Given the description of an element on the screen output the (x, y) to click on. 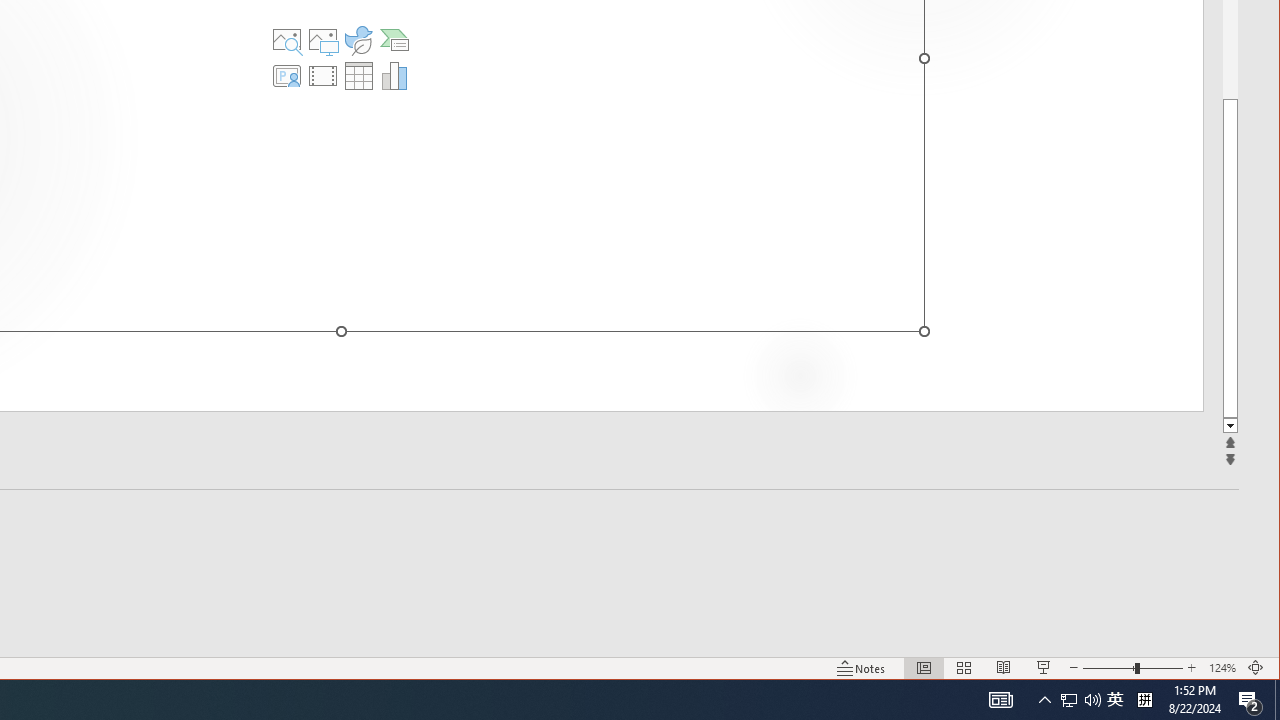
Pictures (323, 39)
Insert a SmartArt Graphic (394, 39)
Stock Images (287, 39)
